Given the description of an element on the screen output the (x, y) to click on. 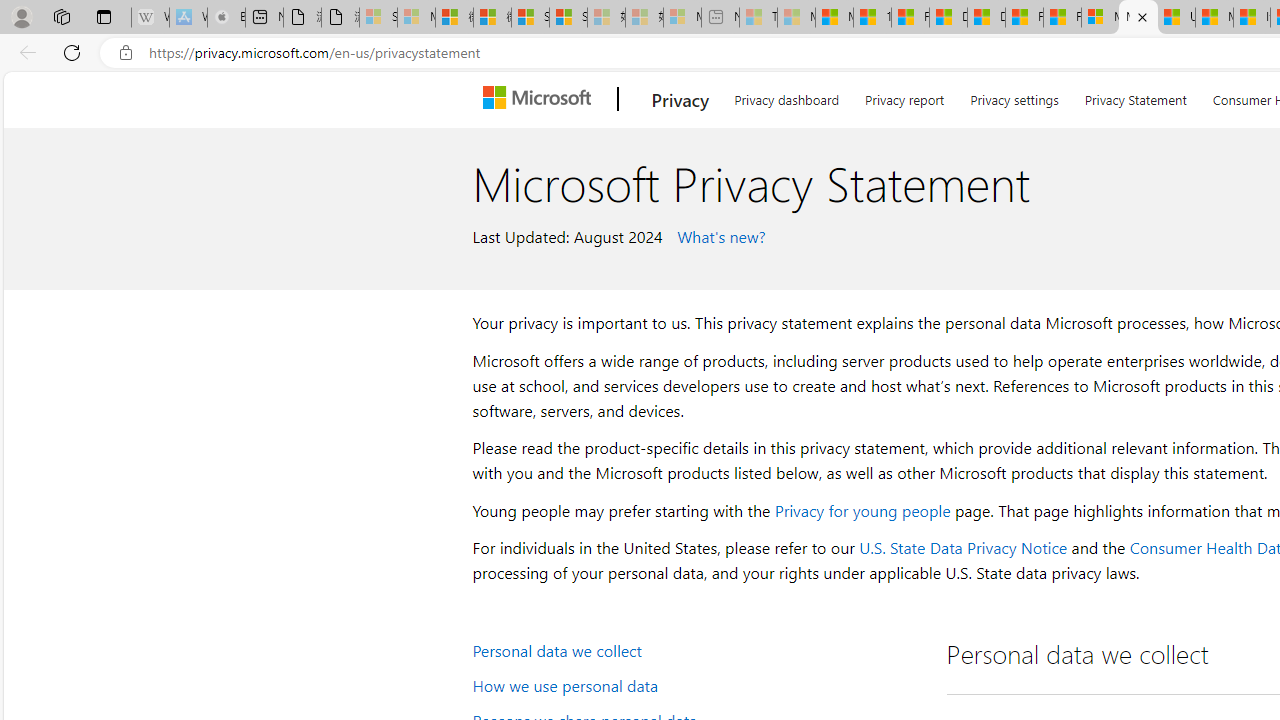
Sign in to your Microsoft account - Sleeping (377, 17)
Buy iPad - Apple - Sleeping (225, 17)
Privacy report (904, 96)
Personal data we collect (696, 650)
Microsoft Services Agreement - Sleeping (416, 17)
 What's new? (718, 235)
Privacy settings (1014, 96)
